Given the description of an element on the screen output the (x, y) to click on. 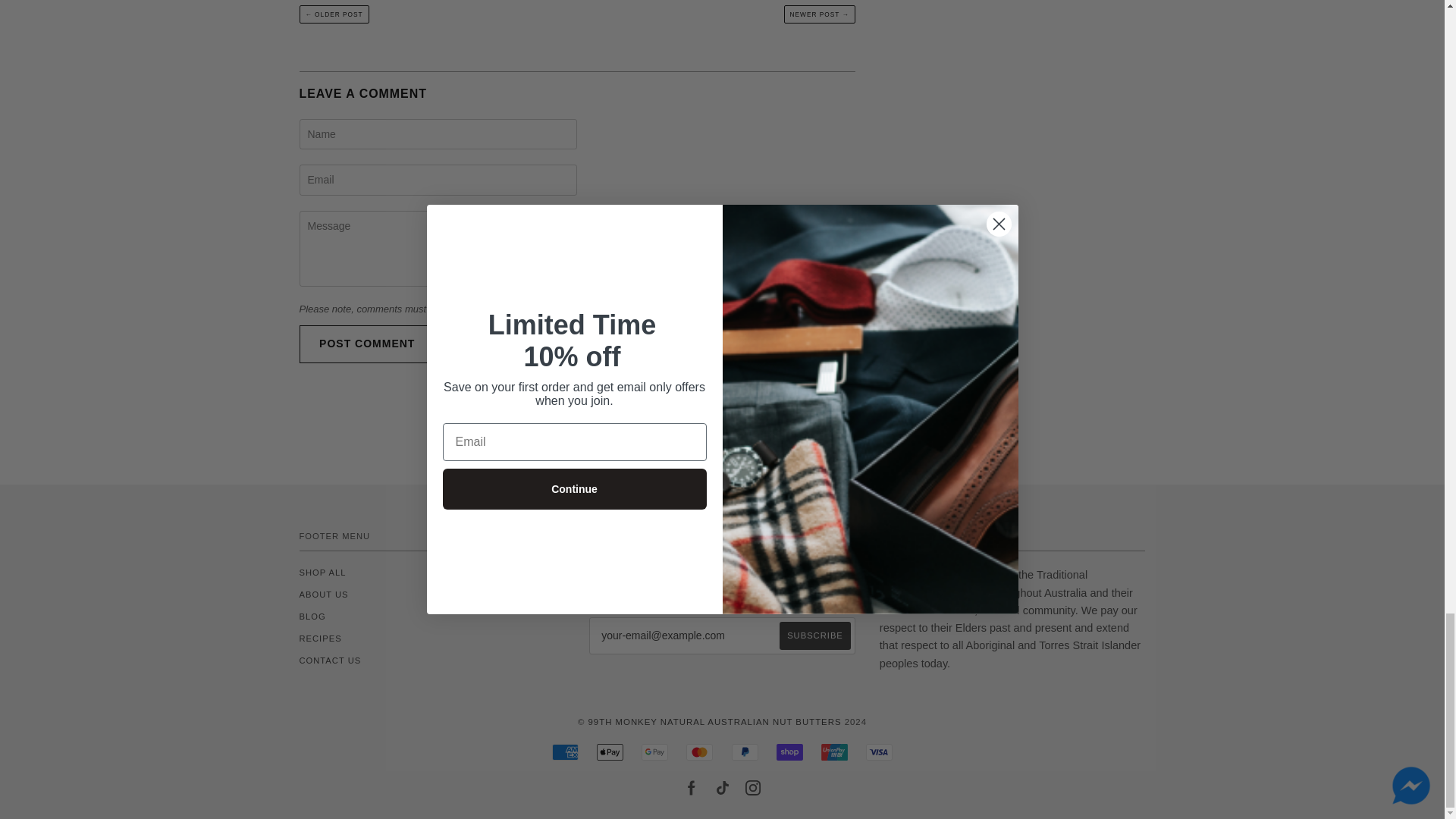
GOOGLE PAY (655, 751)
SHOP PAY (789, 751)
Facebook (691, 787)
Instagram (752, 787)
AMERICAN EXPRESS (564, 751)
PAYPAL (745, 751)
UNION PAY (834, 751)
VISA (879, 751)
Tiktok (721, 787)
APPLE PAY (609, 751)
MASTERCARD (699, 751)
